Given the description of an element on the screen output the (x, y) to click on. 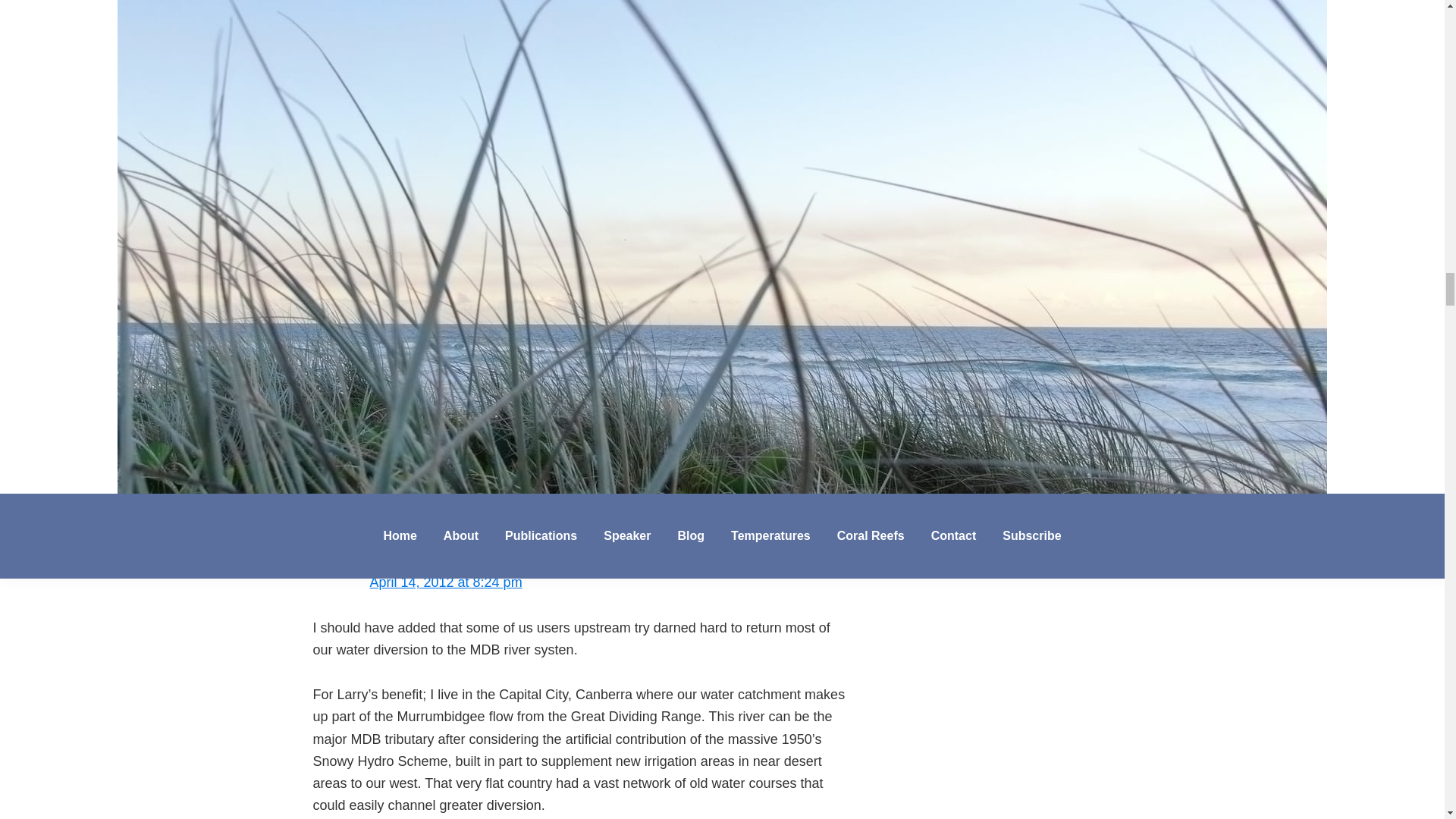
April 14, 2012 at 8:24 pm (445, 581)
